Given the description of an element on the screen output the (x, y) to click on. 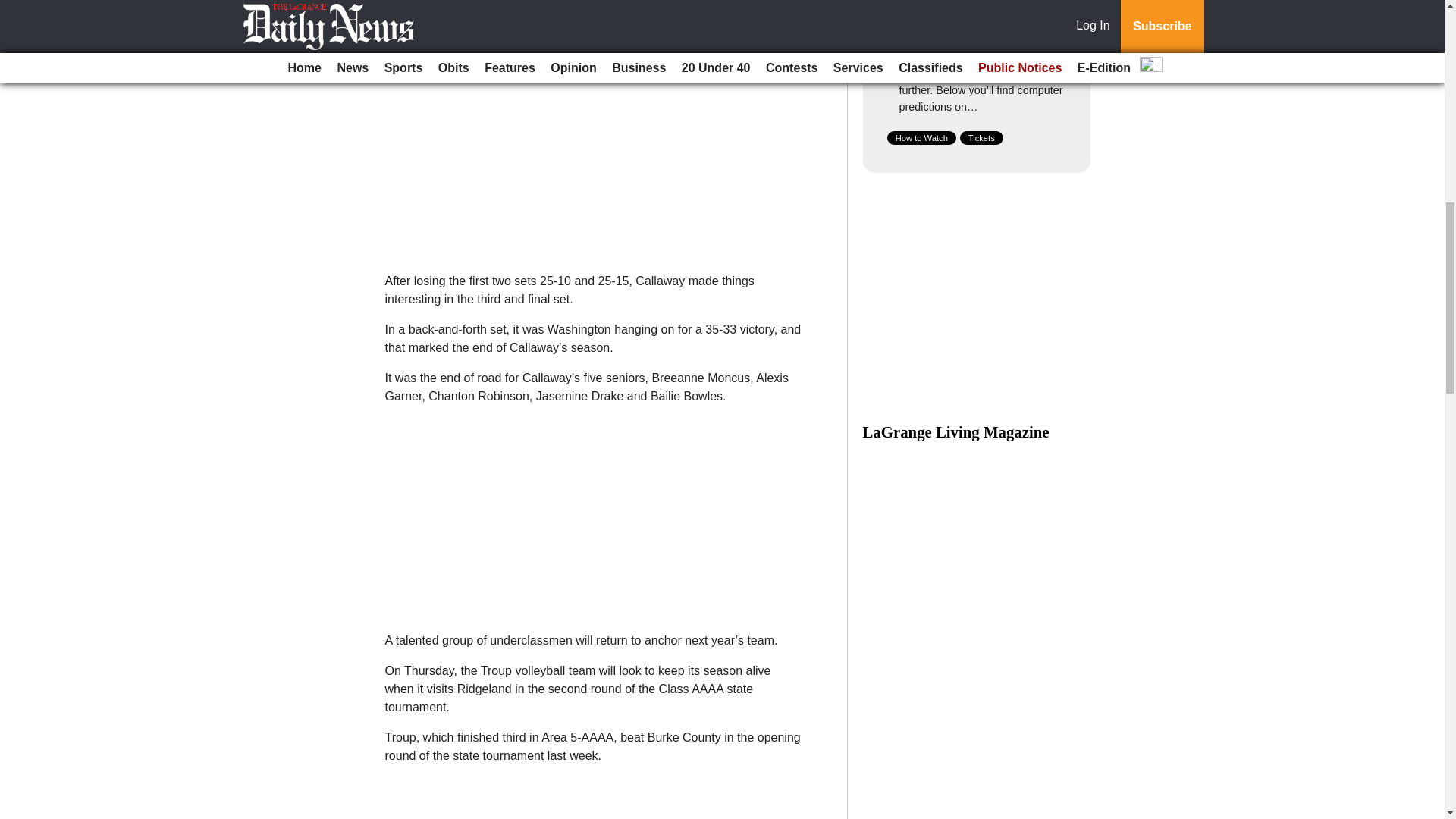
How to Watch (921, 137)
WNBA Betting Picks: Sunday, August 18 (978, 30)
Tickets (981, 137)
